Given the description of an element on the screen output the (x, y) to click on. 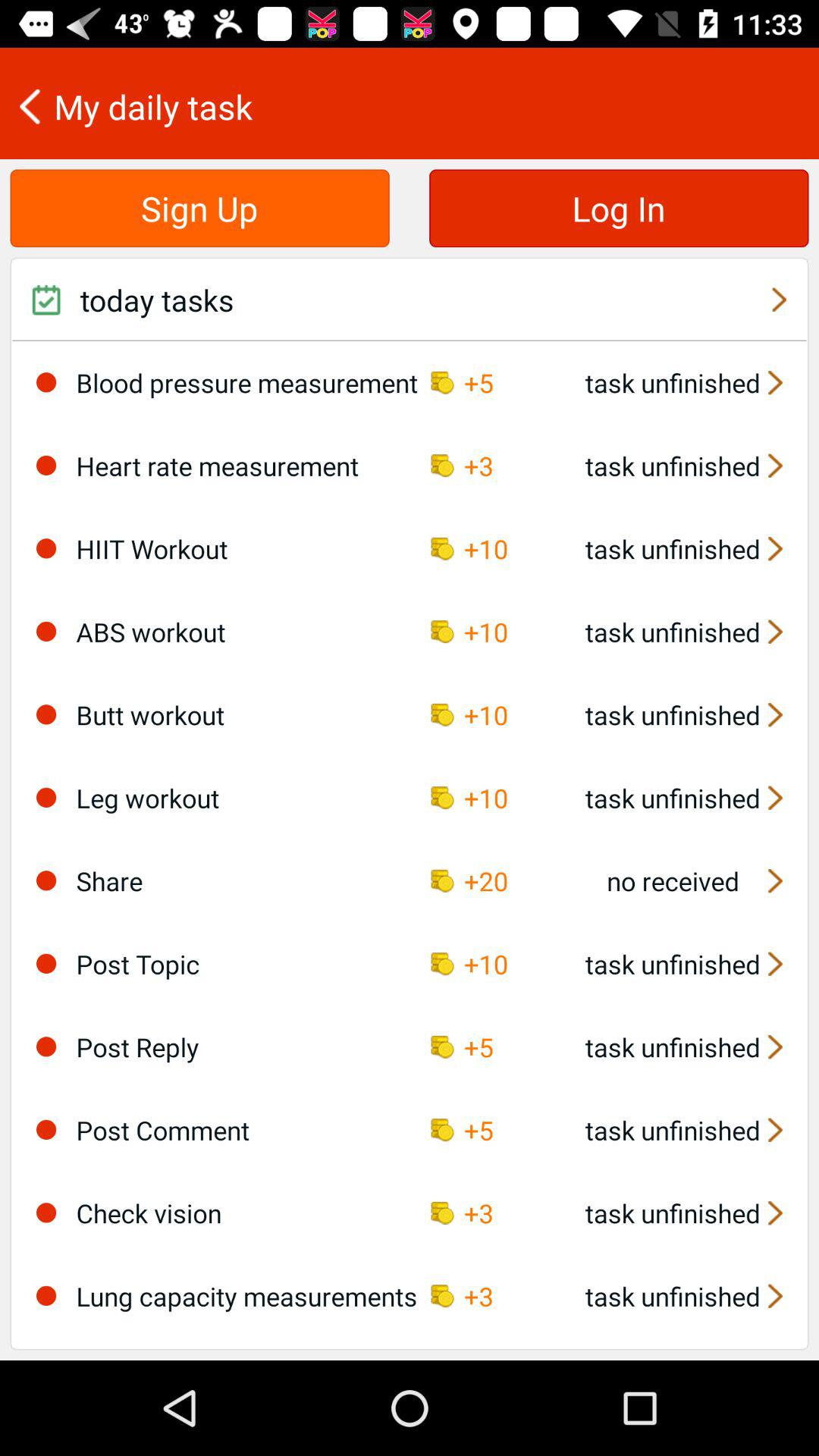
check vision dot (46, 1212)
